Given the description of an element on the screen output the (x, y) to click on. 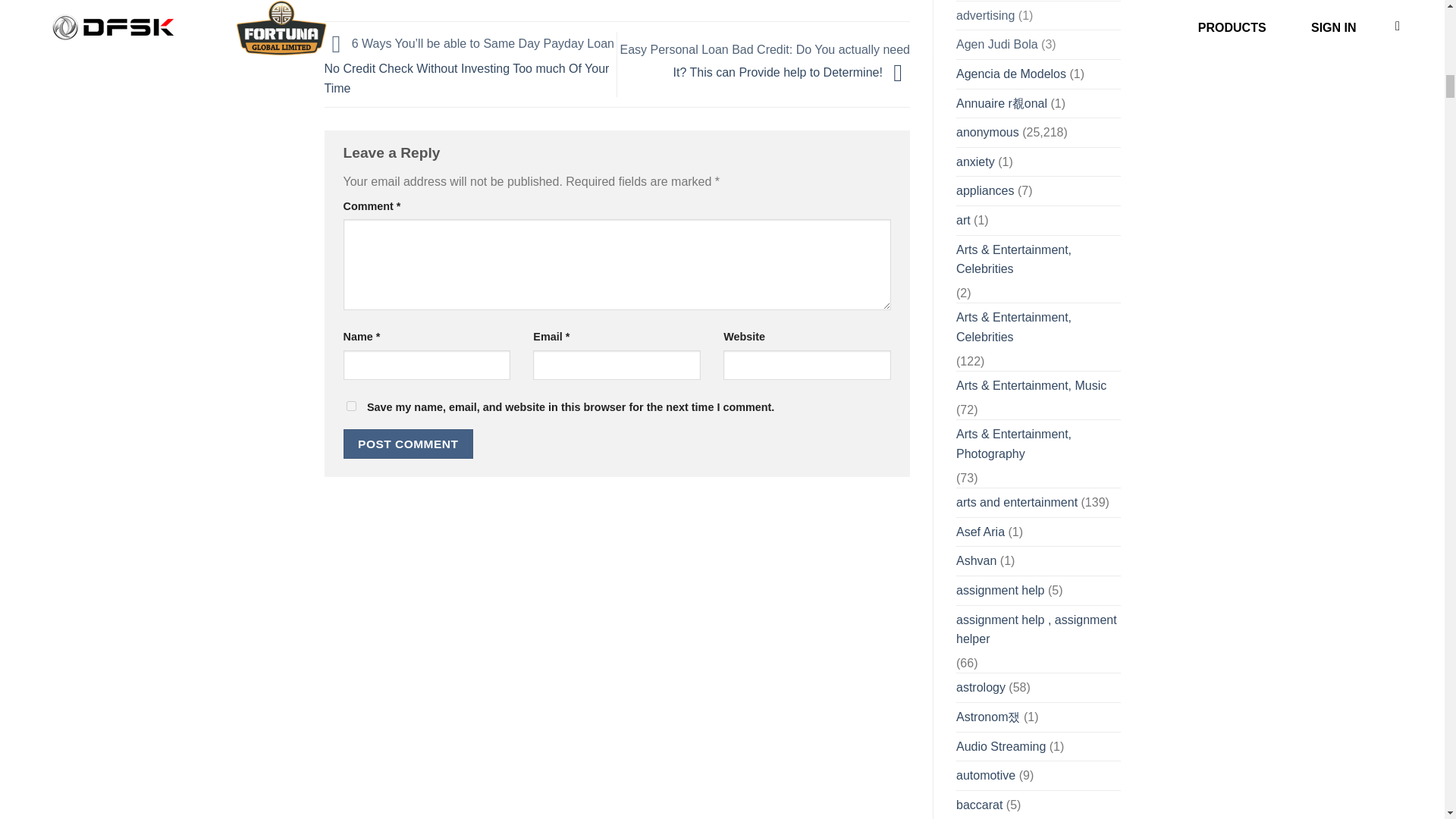
Post Comment (407, 443)
Post Comment (407, 443)
yes (350, 406)
